Given the description of an element on the screen output the (x, y) to click on. 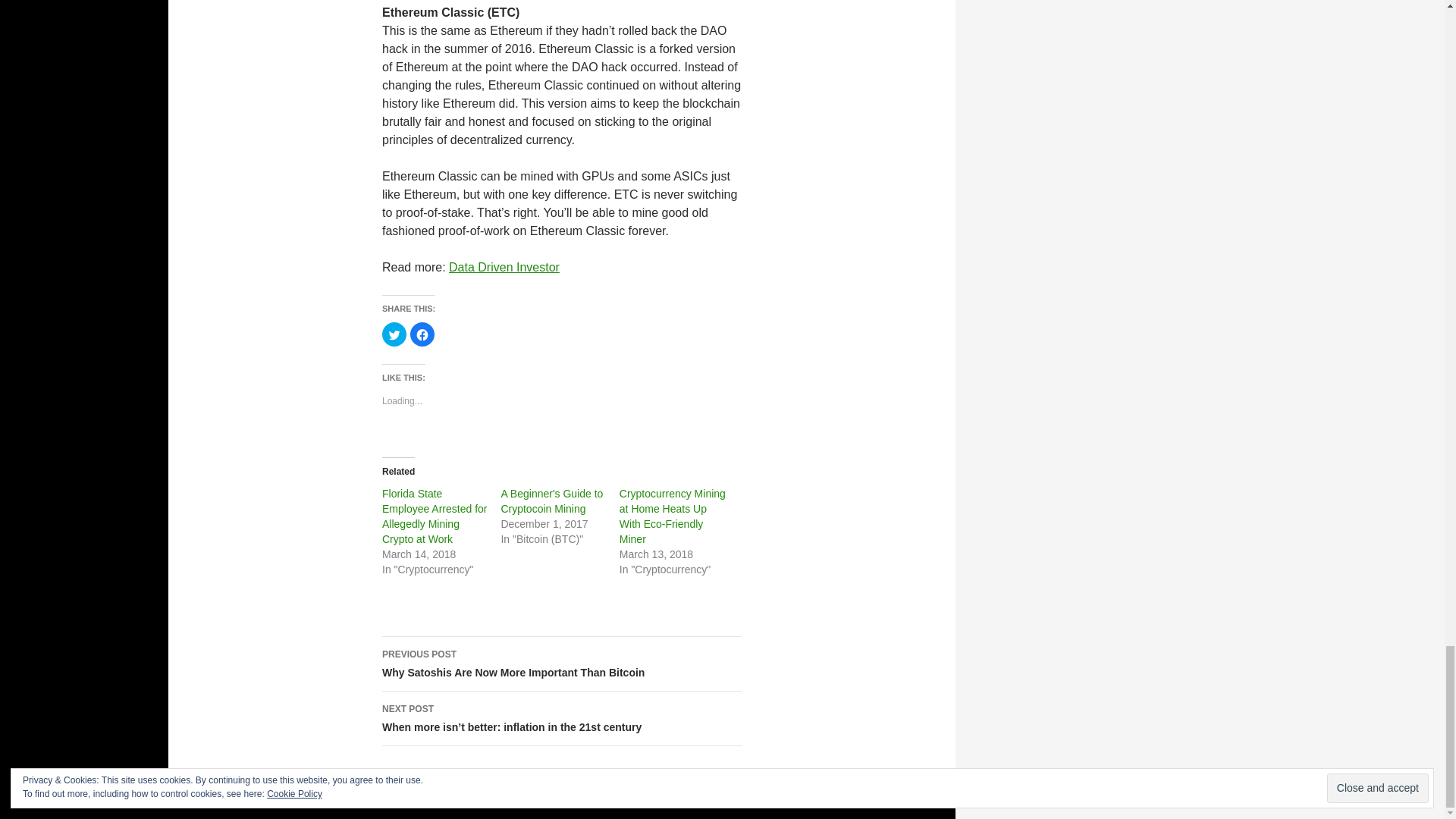
Click to share on Facebook (421, 334)
Data Driven Investor (503, 267)
Click to share on Twitter (393, 334)
A Beginner's Guide to Cryptocoin Mining (551, 501)
A Beginner's Guide to Cryptocoin Mining (551, 501)
